Given the description of an element on the screen output the (x, y) to click on. 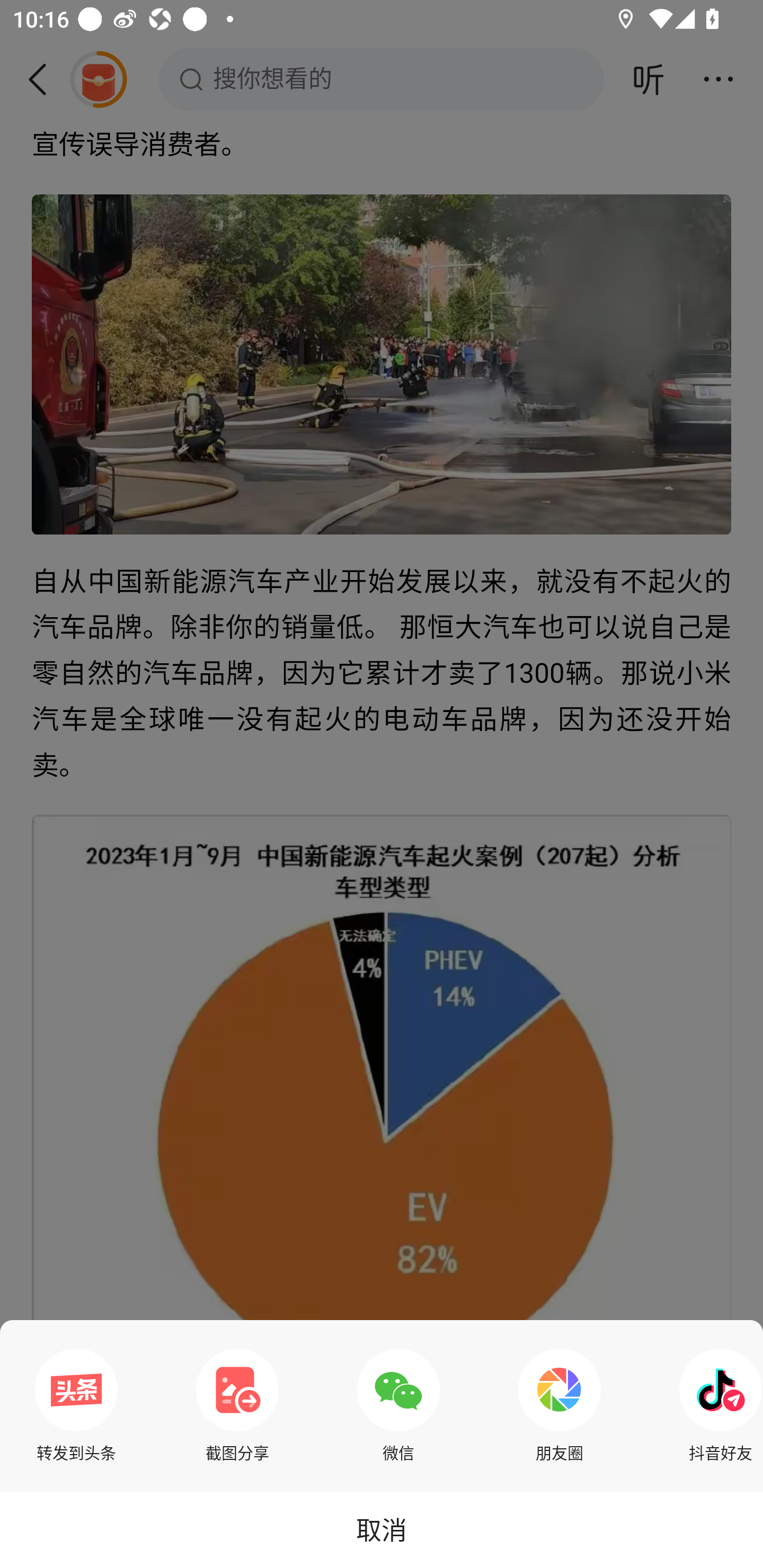
转发到头条 (76, 1405)
截图分享 (237, 1405)
微信 (398, 1405)
朋友圈 (559, 1405)
抖音好友 (716, 1405)
取消 (381, 1529)
